Given the description of an element on the screen output the (x, y) to click on. 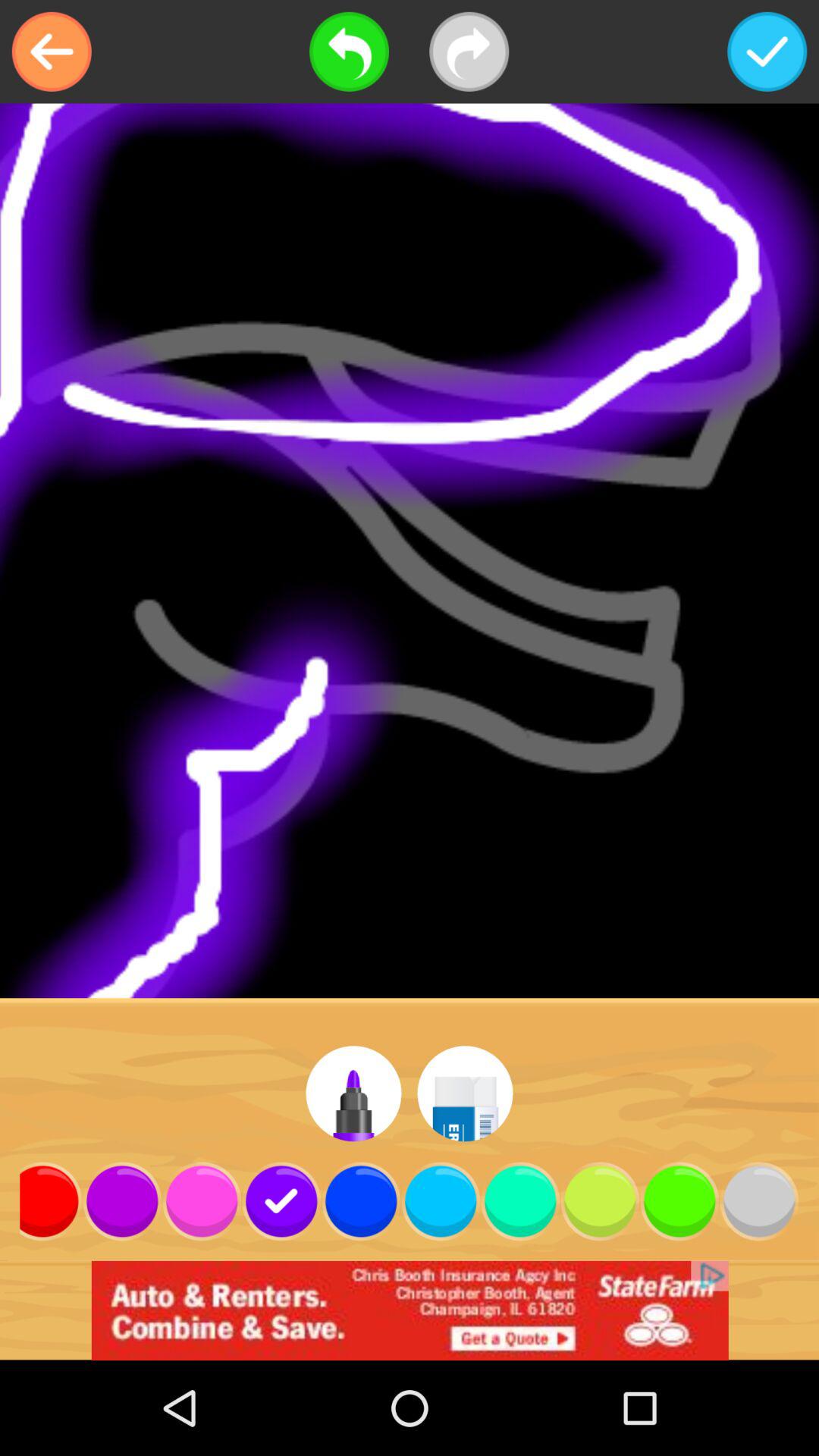
go back (349, 51)
